Given the description of an element on the screen output the (x, y) to click on. 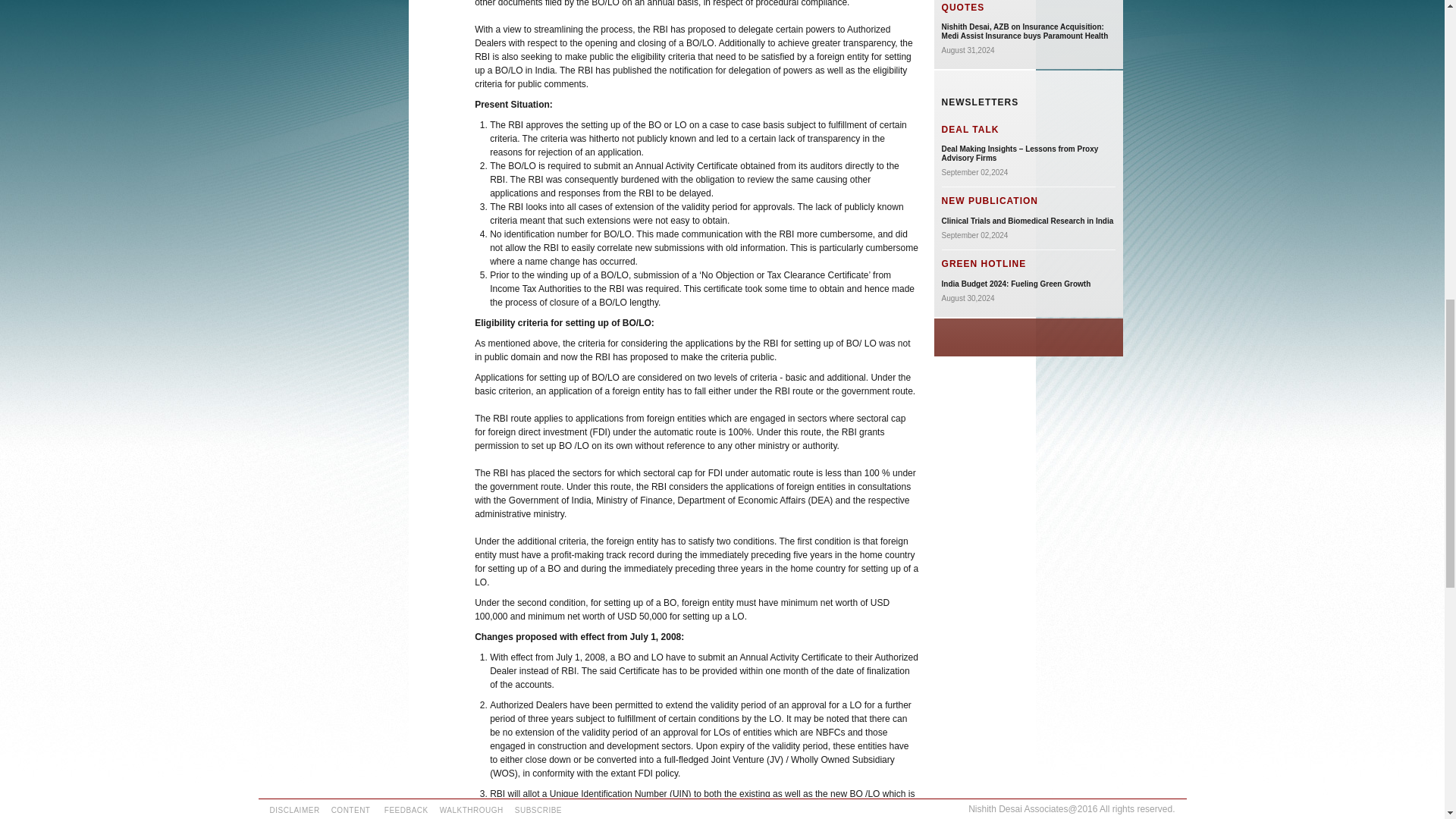
India Budget 2024: Fueling Green Growth (1016, 284)
Clinical Trials and Biomedical Research in India (1027, 221)
